Given the description of an element on the screen output the (x, y) to click on. 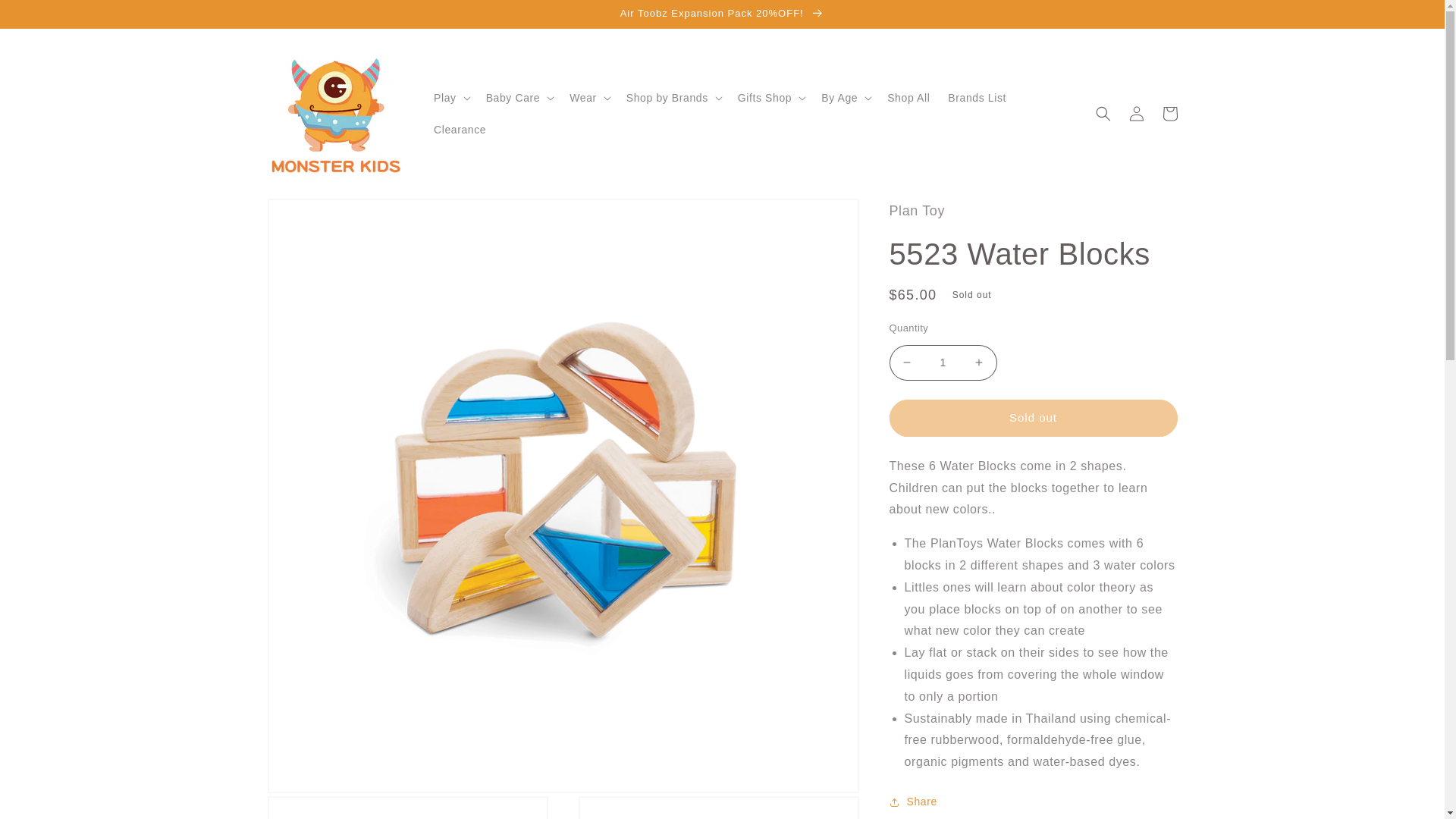
1 (941, 362)
Skip to content (46, 18)
